Given the description of an element on the screen output the (x, y) to click on. 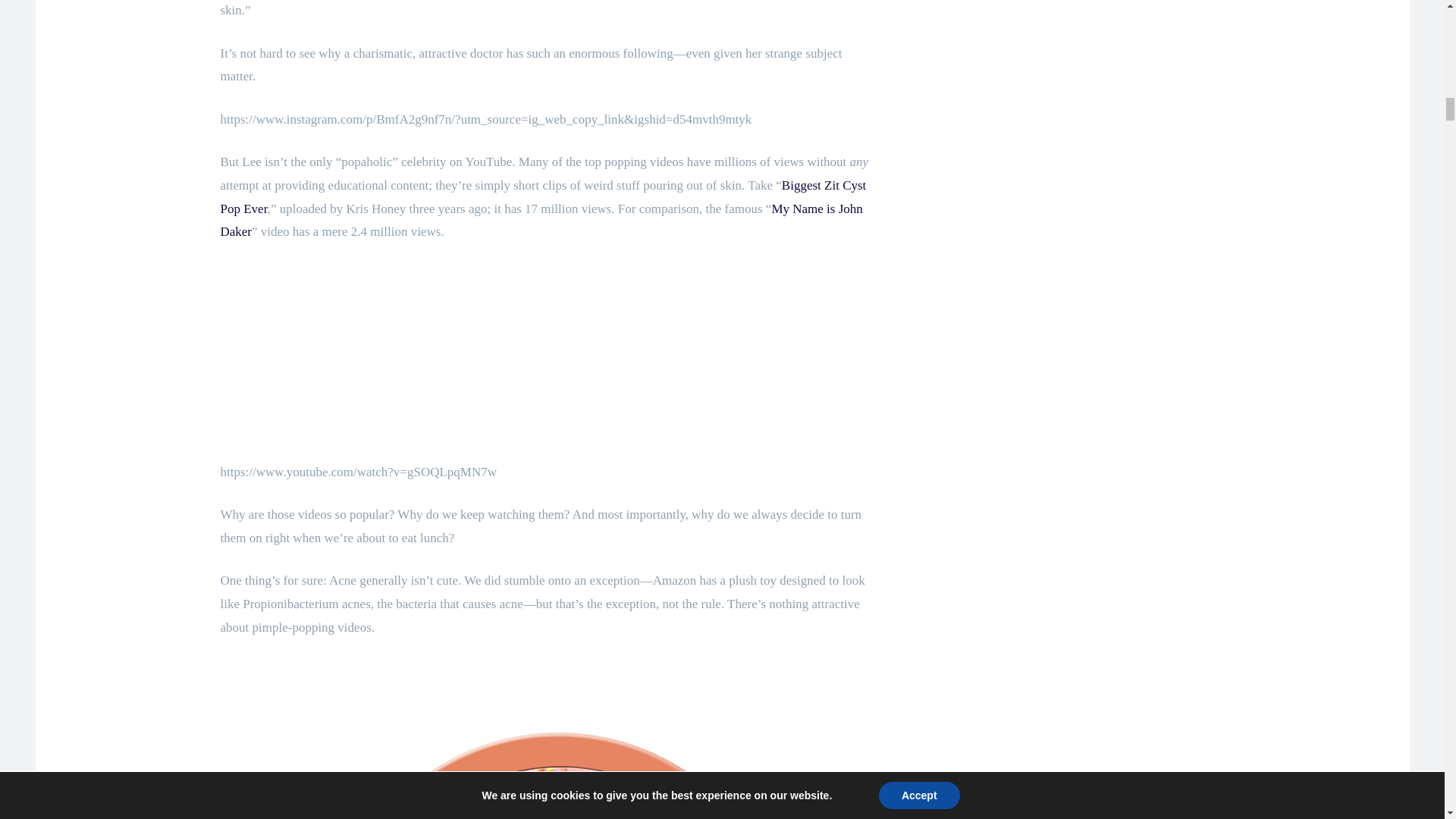
My Name is John Daker (540, 220)
Biggest Zit Cyst Pop Ever (542, 197)
